Given the description of an element on the screen output the (x, y) to click on. 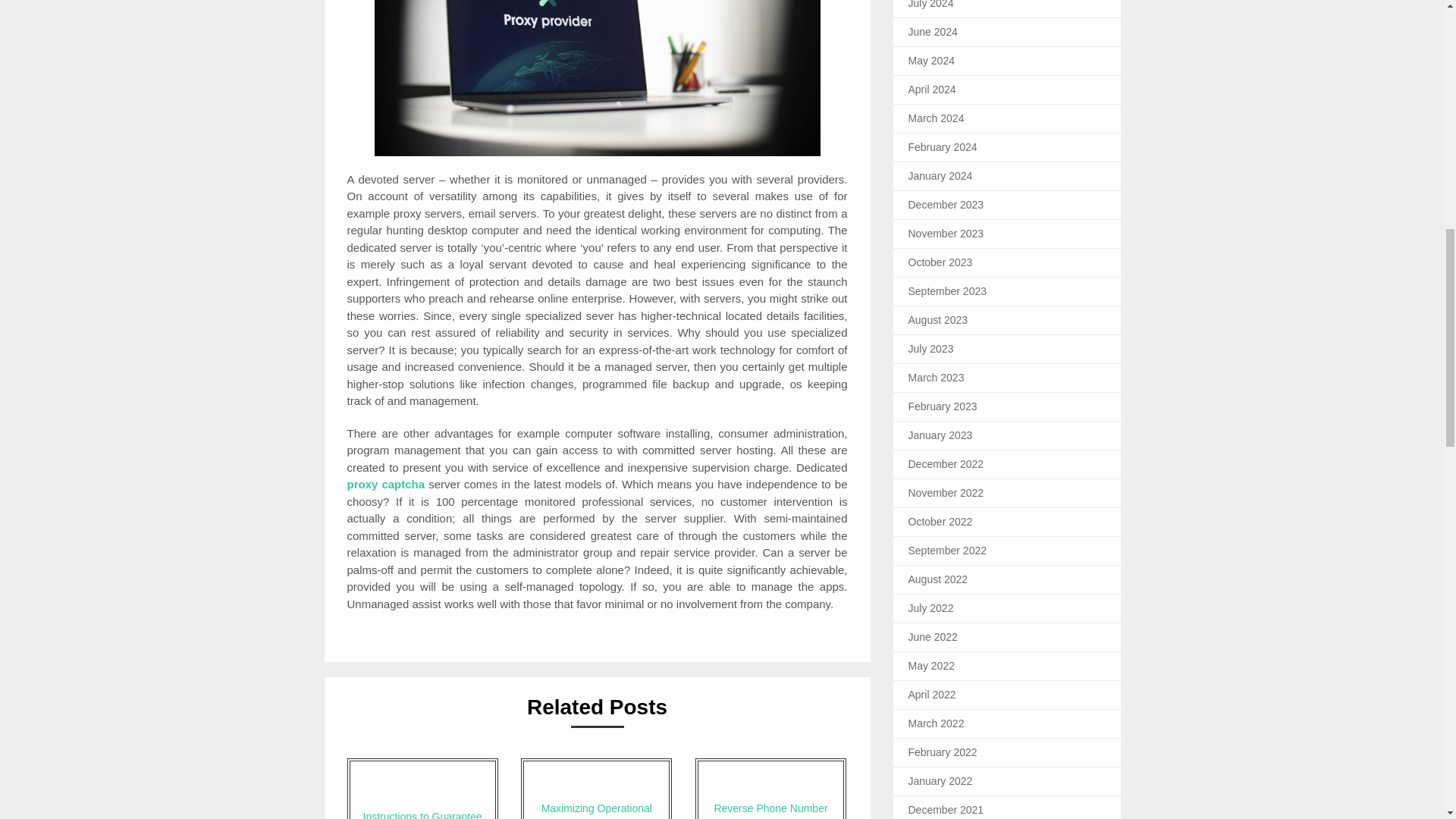
Instructions to Guarantee Effective Time Tracking Service (422, 788)
May 2024 (931, 60)
September 2022 (947, 550)
February 2024 (942, 146)
March 2024 (935, 118)
October 2022 (940, 521)
proxy captcha (386, 483)
February 2023 (942, 406)
July 2023 (930, 348)
June 2024 (933, 31)
